Given the description of an element on the screen output the (x, y) to click on. 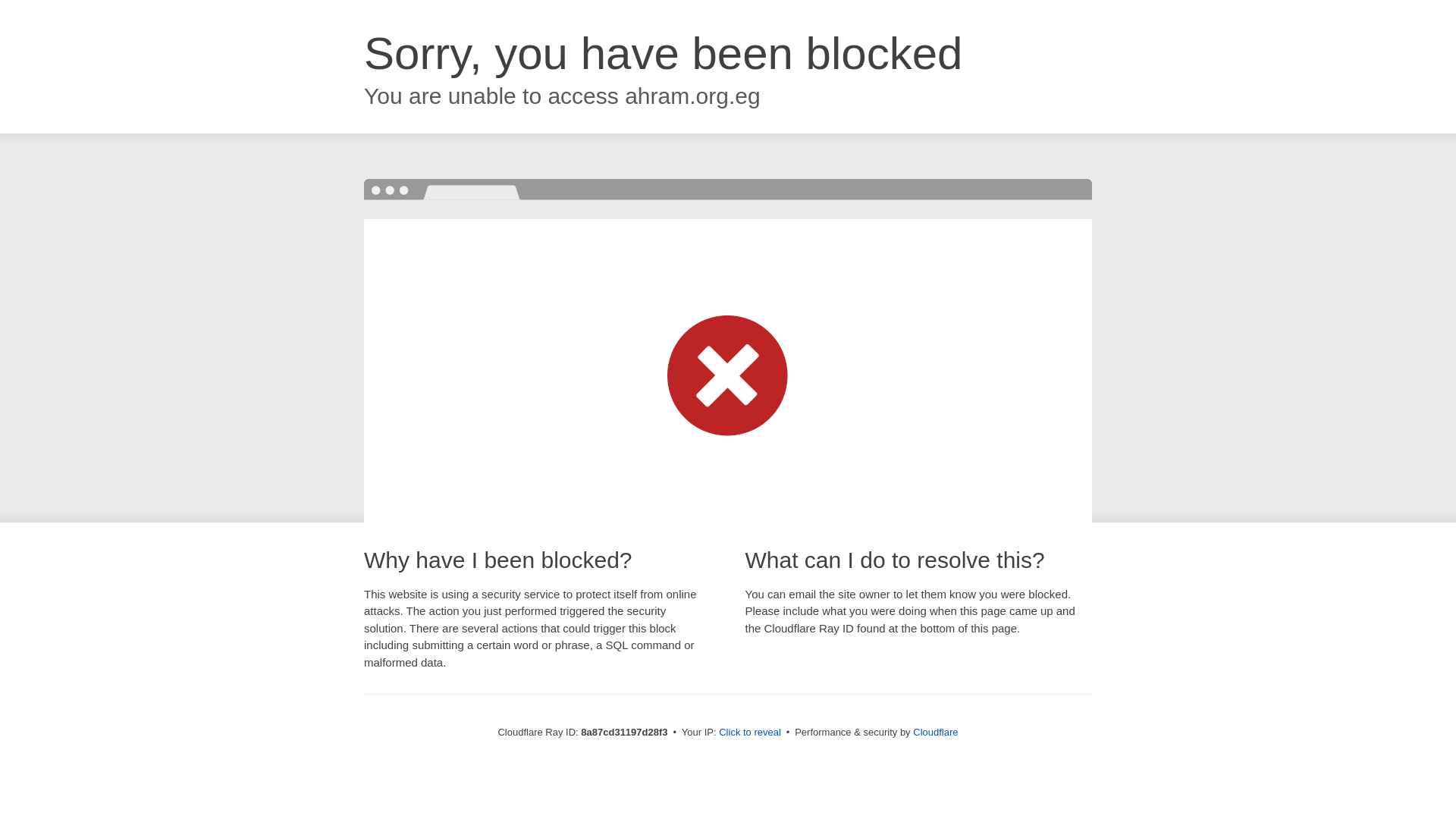
Cloudflare (935, 731)
Click to reveal (749, 732)
